Given the description of an element on the screen output the (x, y) to click on. 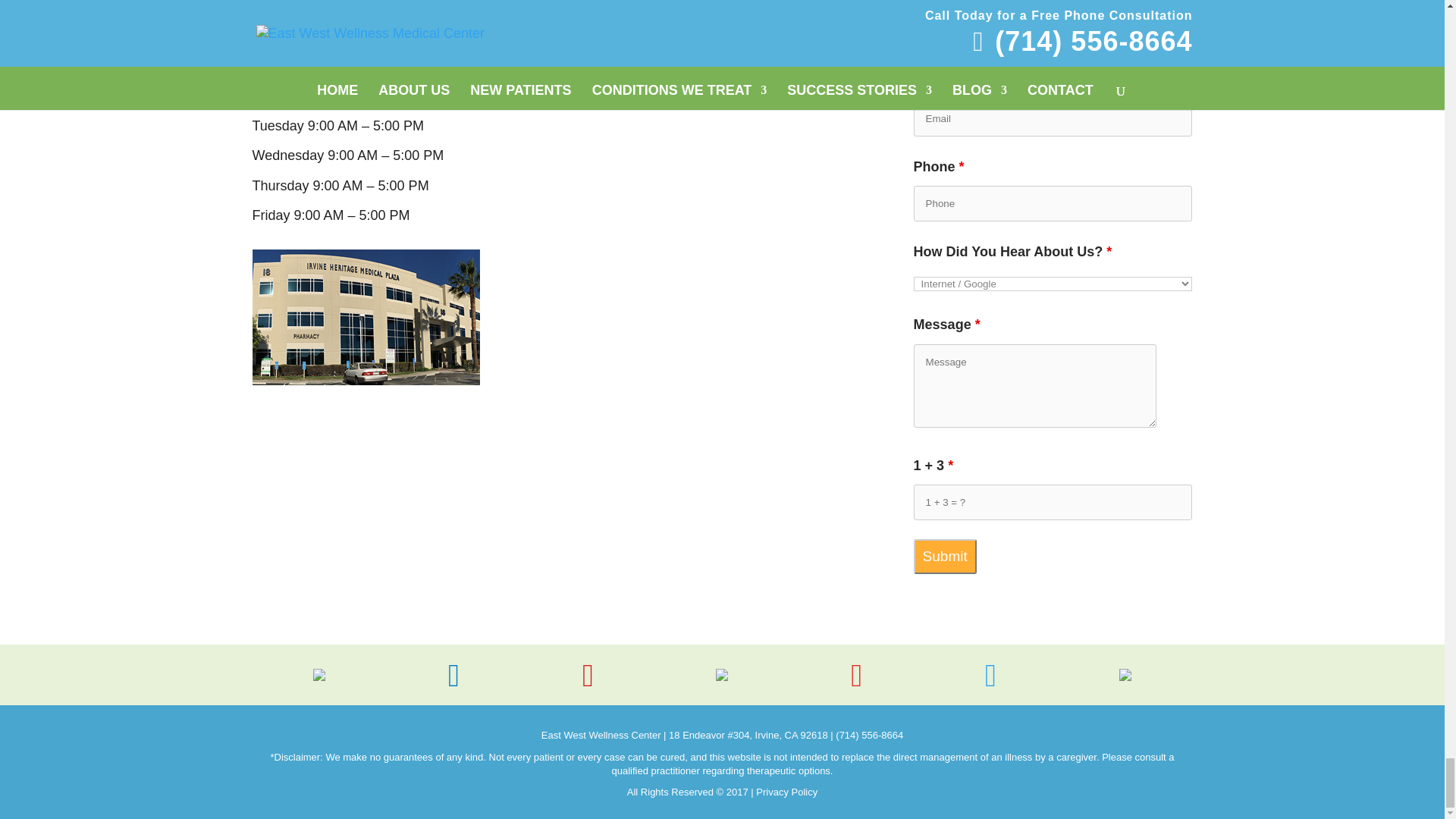
Submit (945, 556)
